Given the description of an element on the screen output the (x, y) to click on. 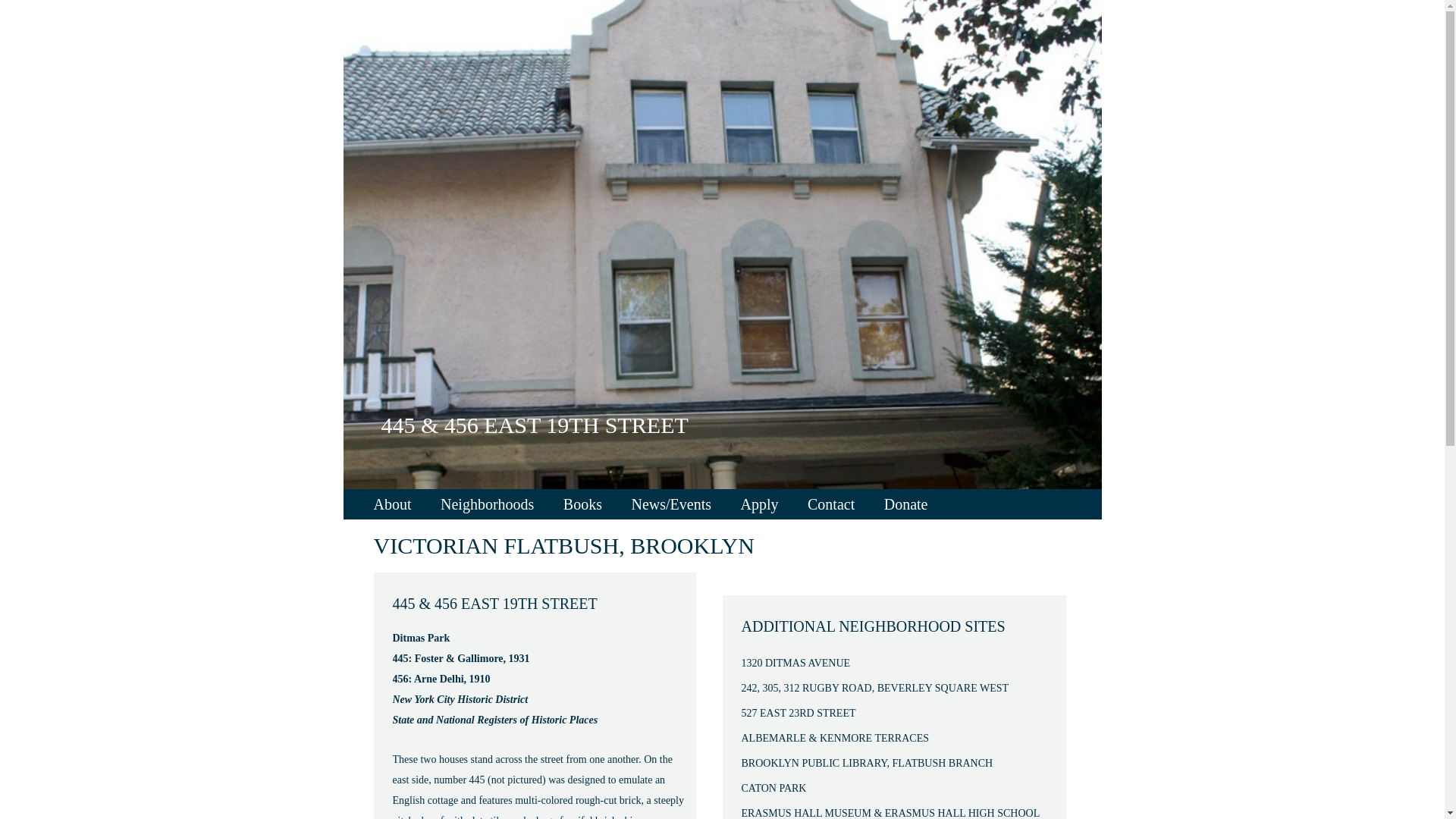
Skip to content (374, 493)
